Given the description of an element on the screen output the (x, y) to click on. 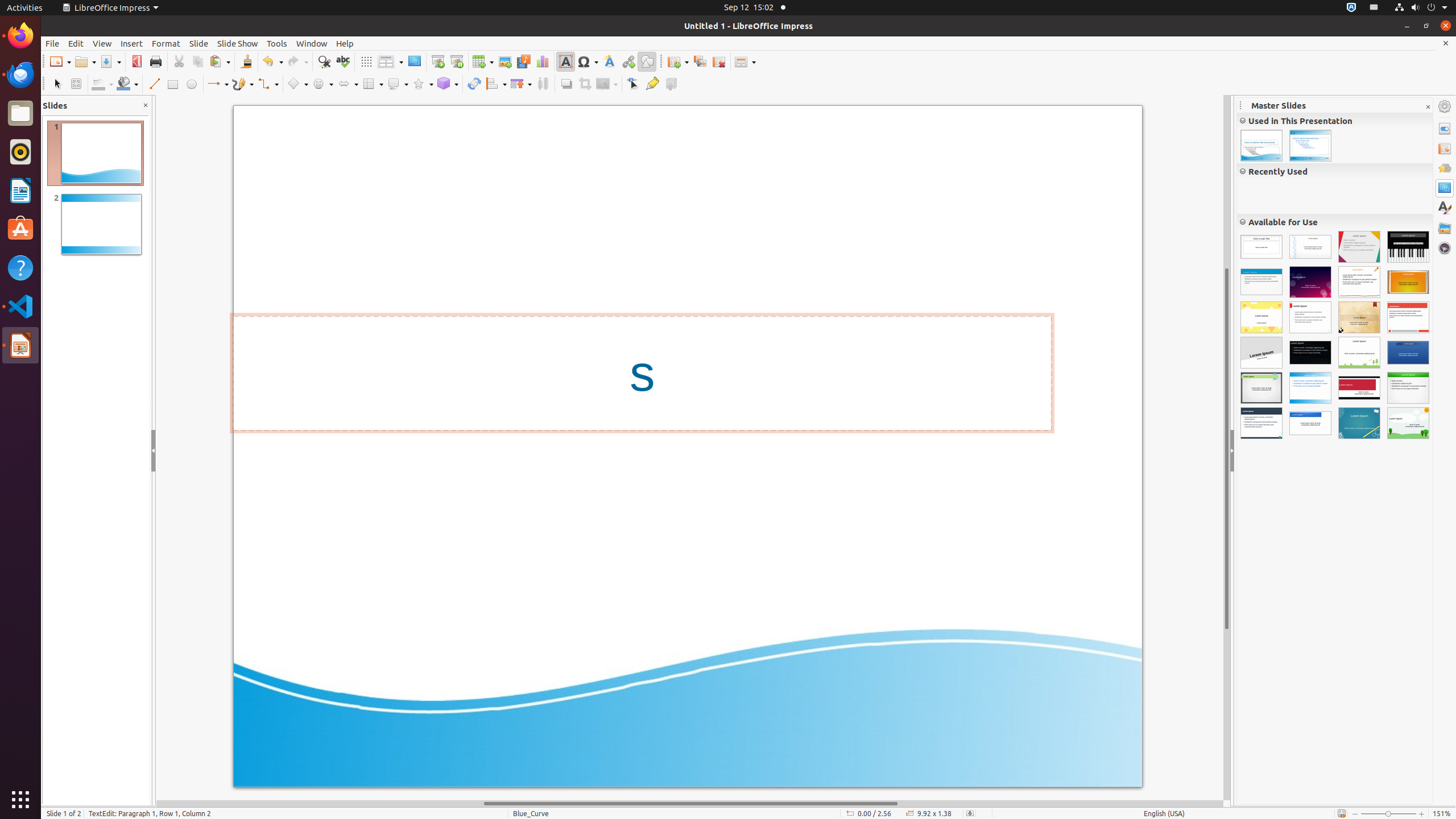
Focus Element type: list-item (1358, 246)
Grid Element type: toggle-button (365, 61)
View Element type: menu (102, 43)
Properties Element type: radio-button (1444, 128)
Vivid Element type: list-item (1261, 281)
